Given the description of an element on the screen output the (x, y) to click on. 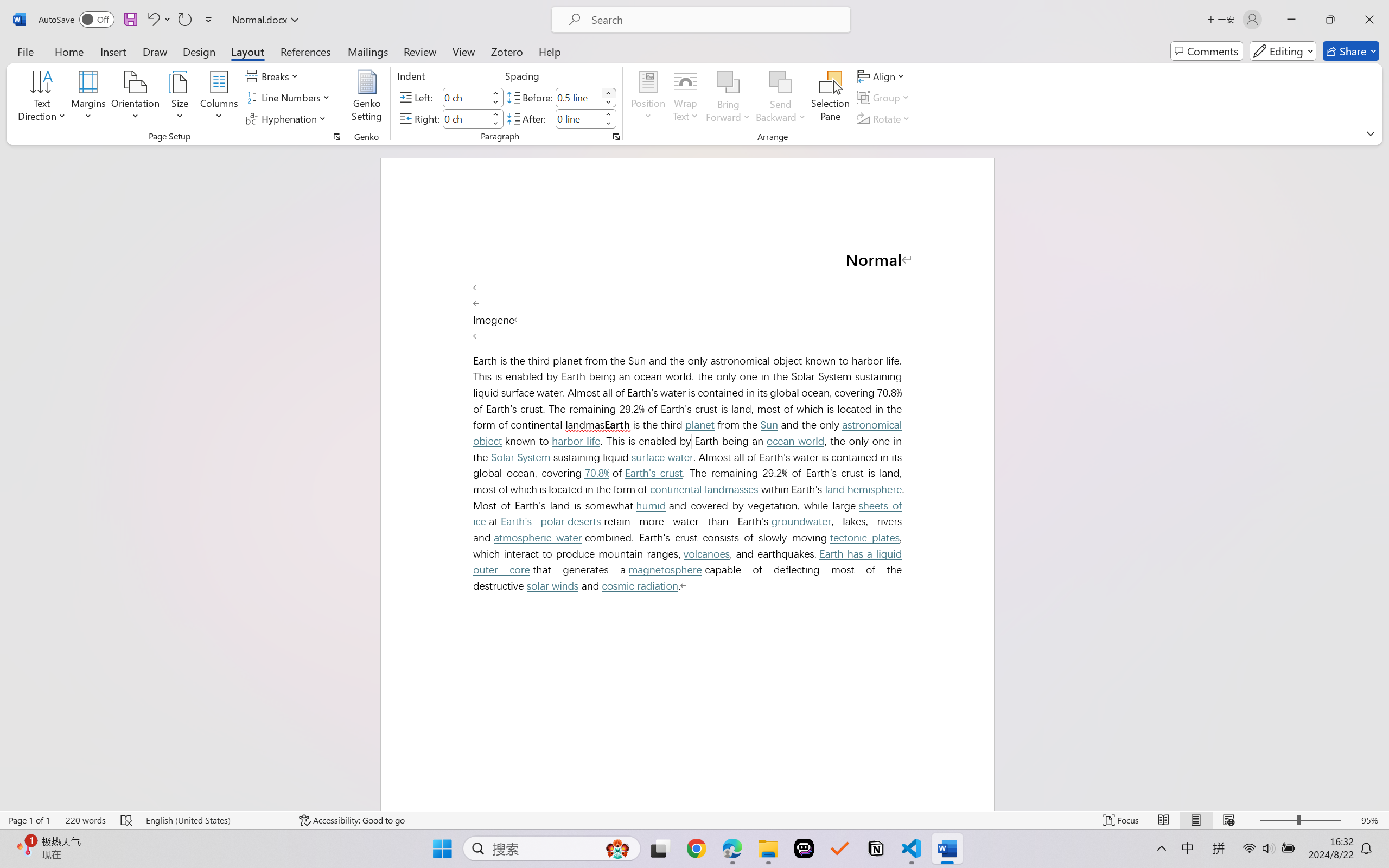
Text Direction (42, 97)
Paragraph... (615, 136)
Orientation (135, 97)
humid (650, 505)
Line Numbers (289, 97)
Spacing Before (578, 96)
Selection Pane... (830, 97)
